Given the description of an element on the screen output the (x, y) to click on. 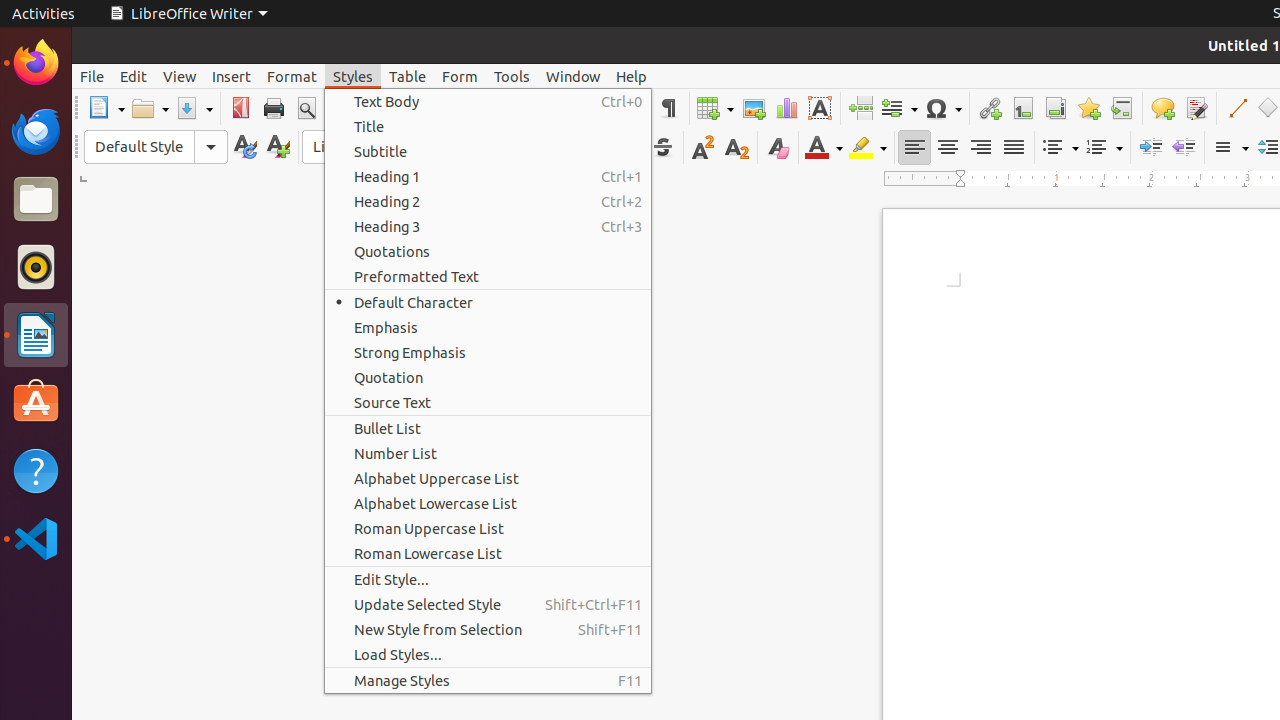
Track Changes Functions Element type: toggle-button (1195, 108)
Superscript Element type: toggle-button (703, 147)
Save Element type: push-button (194, 108)
Styles Element type: menu (353, 76)
Number List Element type: radio-menu-item (488, 453)
